Given the description of an element on the screen output the (x, y) to click on. 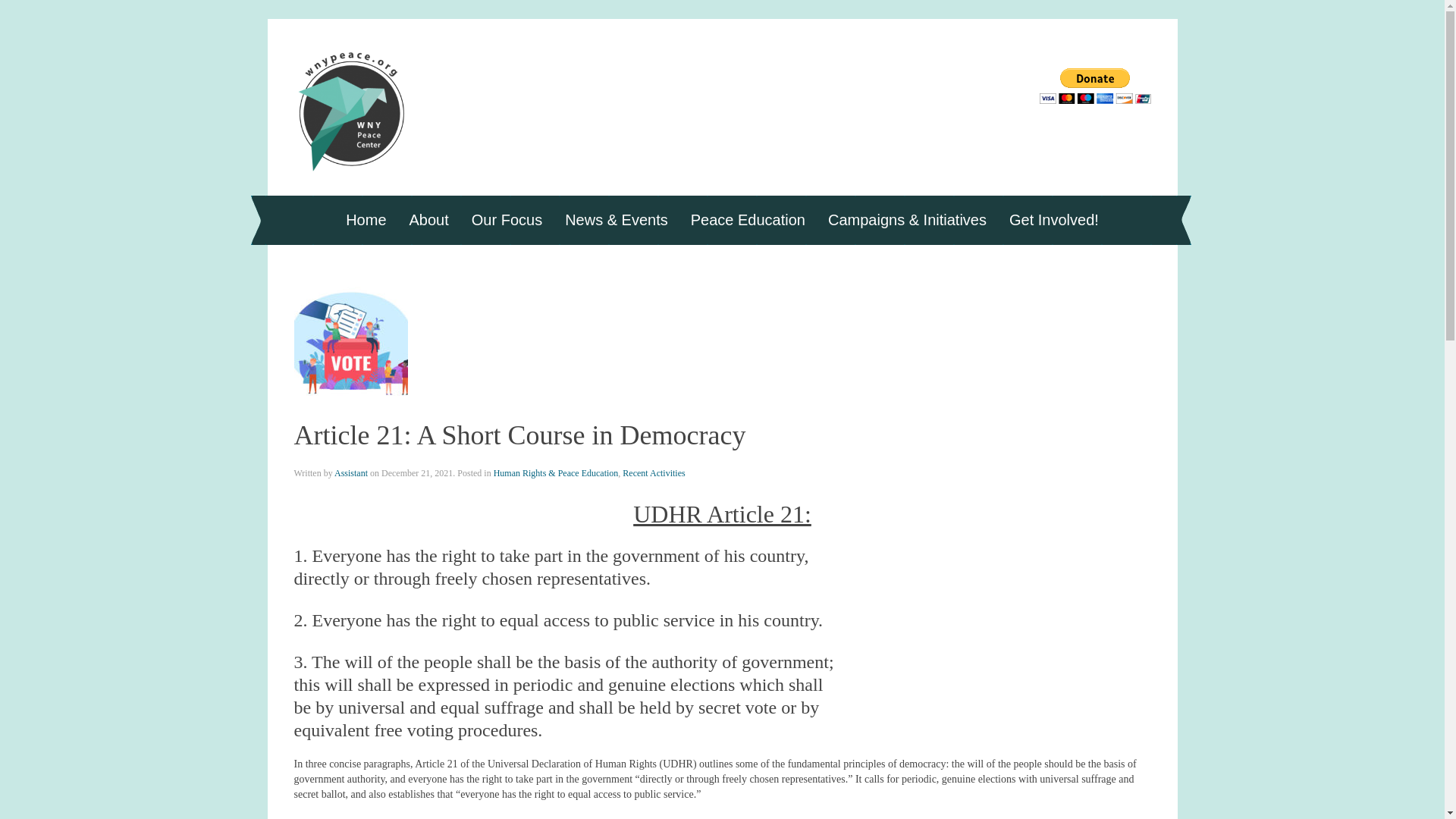
Home (365, 219)
Our Focus (506, 219)
Recent Activities (653, 472)
Peace Education (747, 219)
About (428, 219)
Assistant (351, 472)
Assistant (351, 472)
Get Involved! (1053, 219)
